Given the description of an element on the screen output the (x, y) to click on. 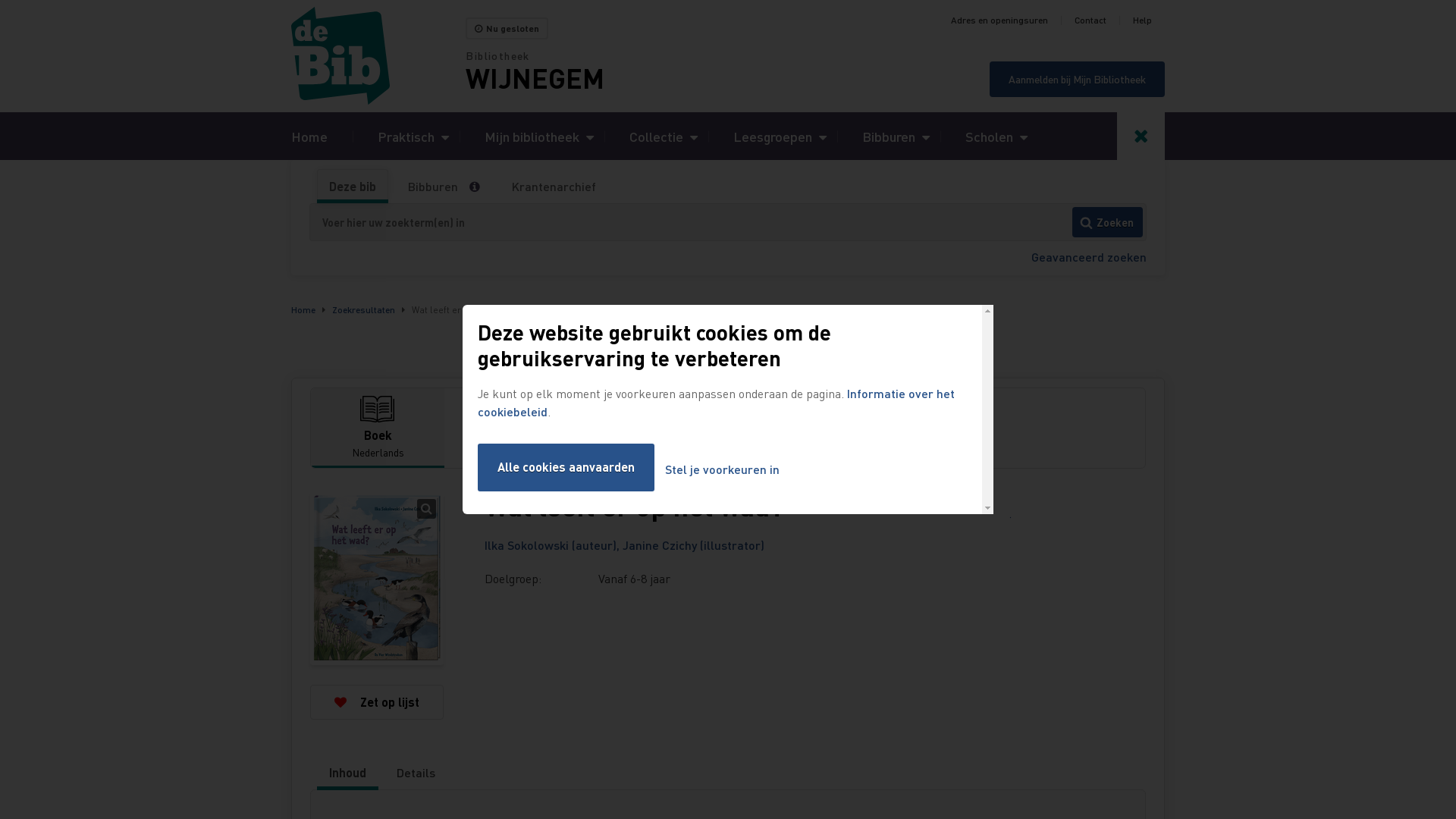
Stel je voorkeuren in Element type: text (722, 469)
Contact Element type: text (1090, 20)
Bibburen Element type: text (432, 186)
Zoeken Element type: text (1107, 222)
Home Element type: text (303, 309)
Help Element type: text (1141, 20)
Informatie over het cookiebeleid Element type: text (715, 402)
Ilka Sokolowski (auteur), Element type: text (553, 544)
Deze bib Element type: text (352, 186)
Janine Czichy (illustrator) Element type: text (693, 544)
Geavanceerd zoeken Element type: text (1088, 256)
Meer informatie Element type: hover (480, 186)
Nu gesloten Element type: text (506, 28)
Toggle search Element type: hover (1140, 136)
Aanmelden bij Mijn Bibliotheek Element type: text (1076, 79)
Home Element type: text (309, 136)
Home Element type: hover (378, 55)
Overslaan en naar zoeken gaan Element type: text (0, 0)
Details Element type: text (415, 772)
Zoekresultaten Element type: text (363, 309)
Zet op lijst Element type: text (376, 701)
Krantenarchief Element type: text (553, 186)
Inhoud Element type: text (347, 772)
Adres en openingsuren Element type: text (999, 20)
Alle cookies aanvaarden Element type: text (565, 466)
